Given the description of an element on the screen output the (x, y) to click on. 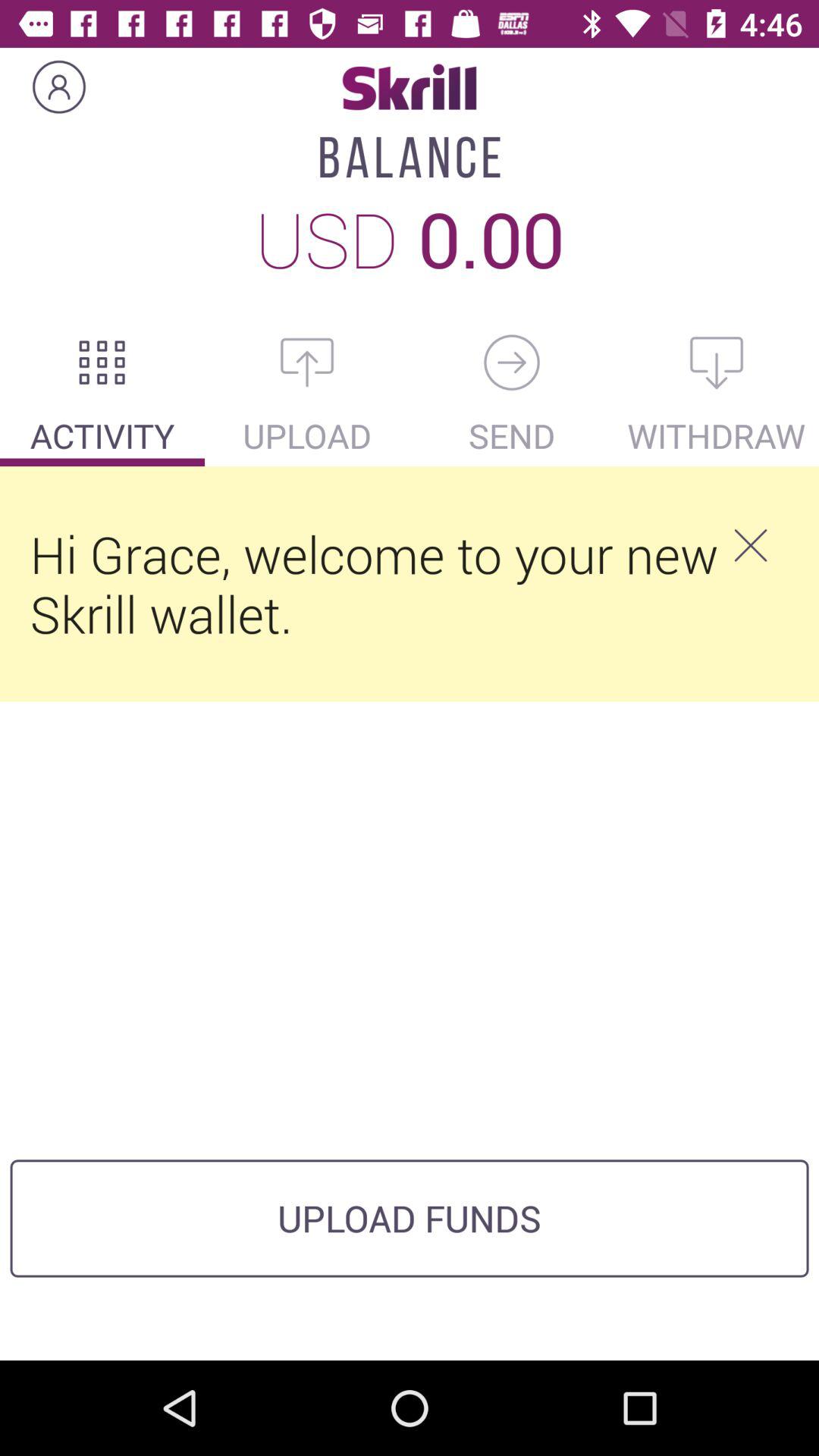
withdraw balance (716, 362)
